Given the description of an element on the screen output the (x, y) to click on. 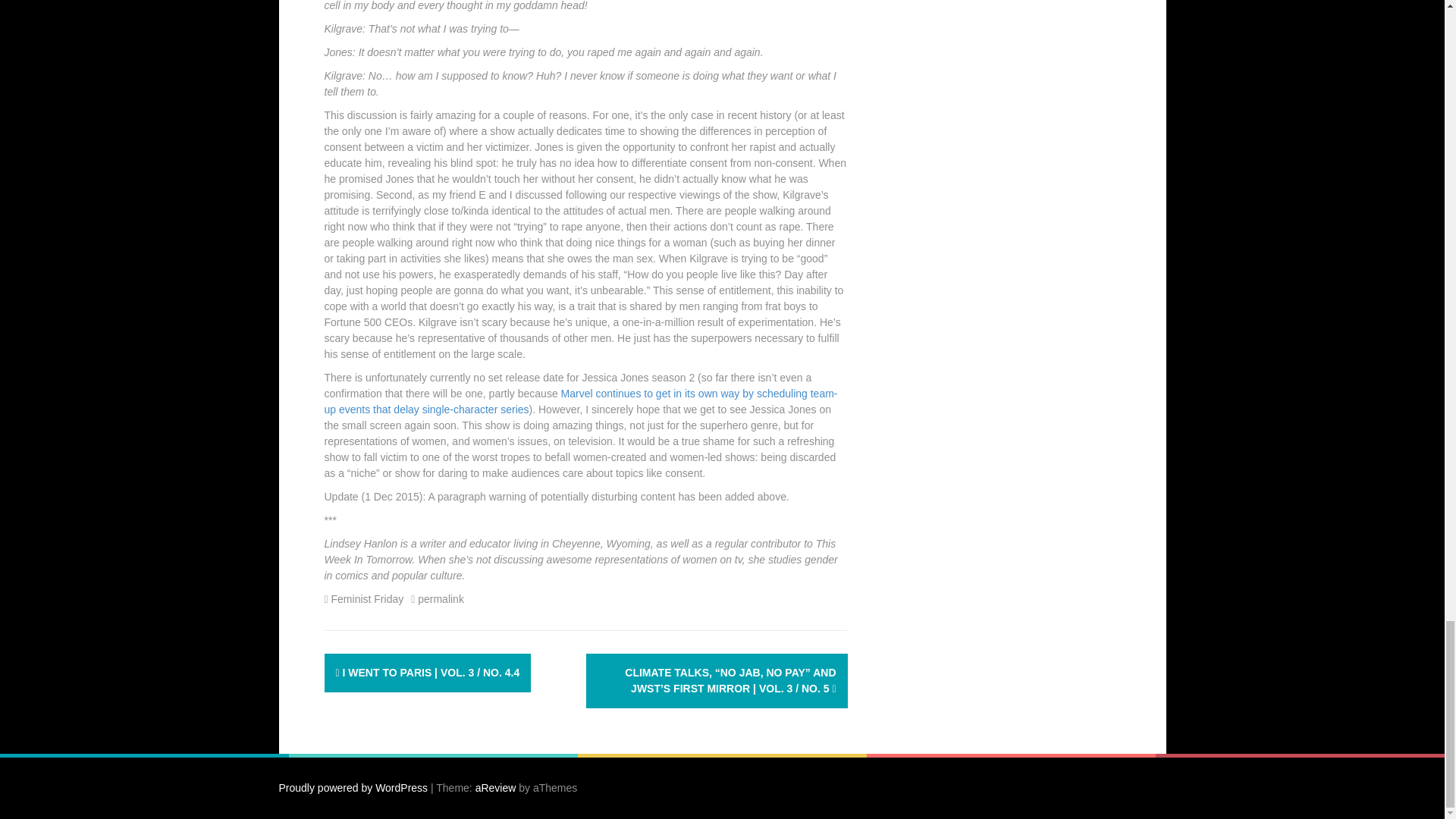
permalink (439, 598)
Feminist Friday (367, 598)
